Given the description of an element on the screen output the (x, y) to click on. 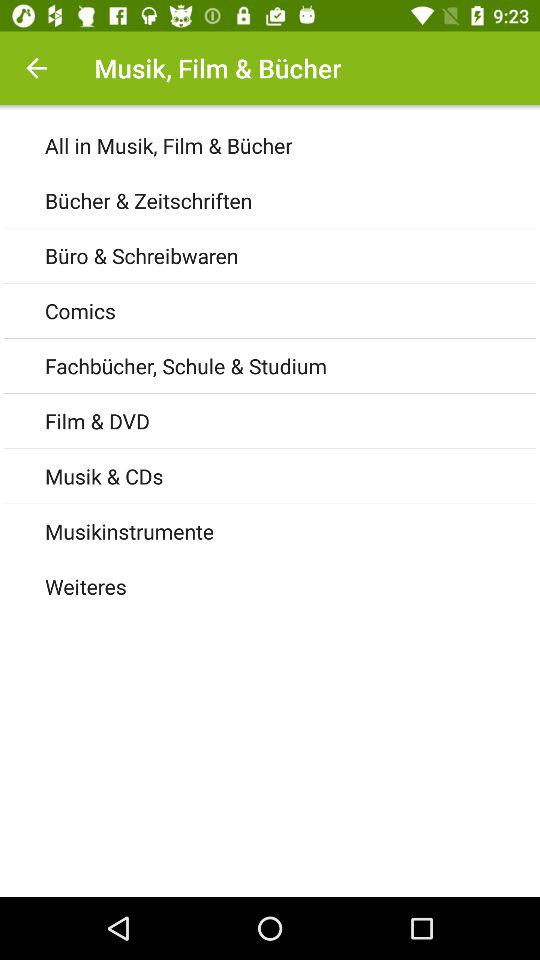
press the weiteres icon (292, 586)
